Given the description of an element on the screen output the (x, y) to click on. 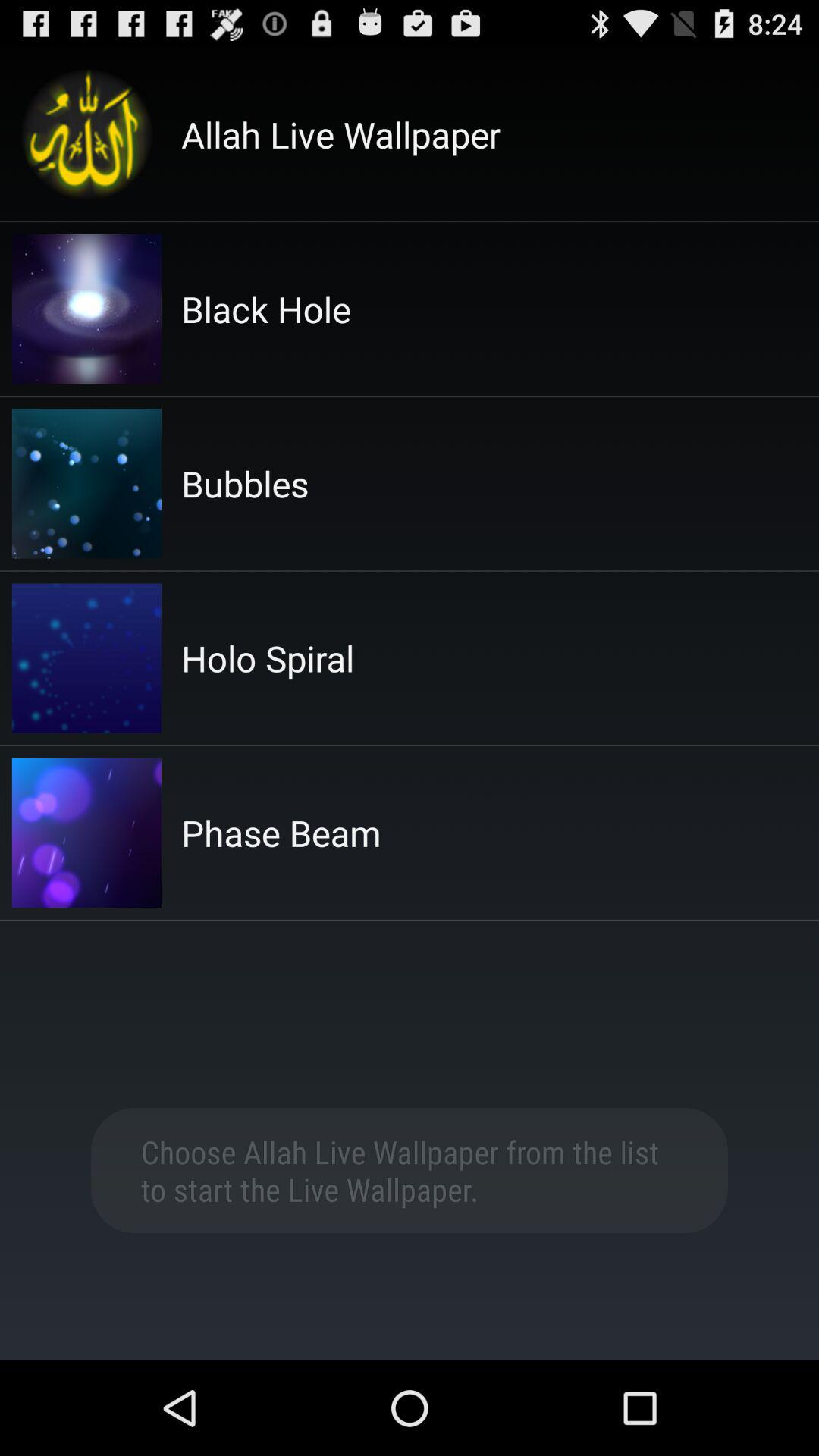
click item above the phase beam icon (267, 658)
